Given the description of an element on the screen output the (x, y) to click on. 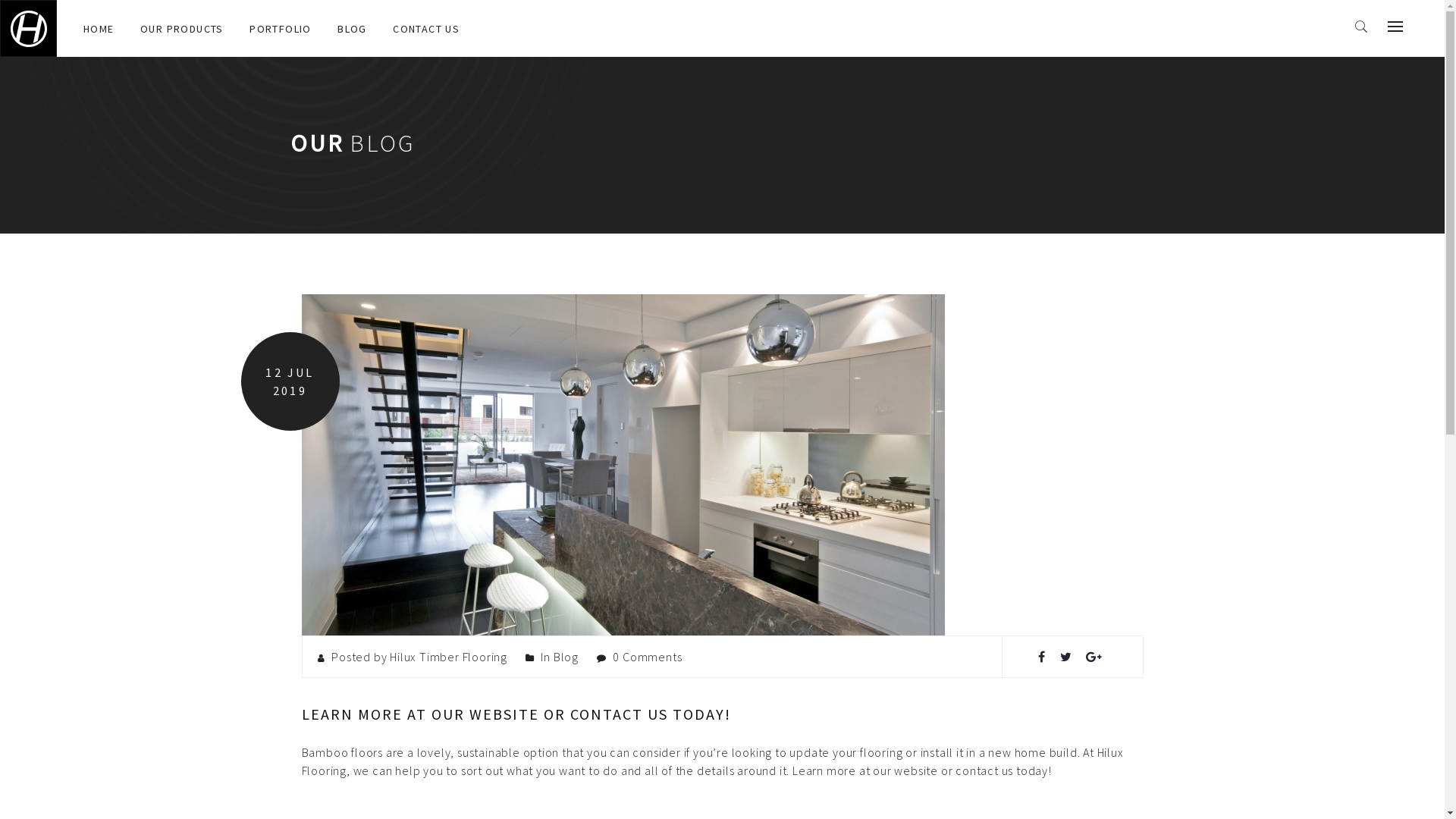
HOME Element type: text (98, 27)
BLOG Element type: text (352, 27)
PORTFOLIO Element type: text (280, 27)
CONTACT US Element type: text (425, 27)
OUR PRODUCTS Element type: text (181, 27)
Blog Element type: text (565, 656)
